Given the description of an element on the screen output the (x, y) to click on. 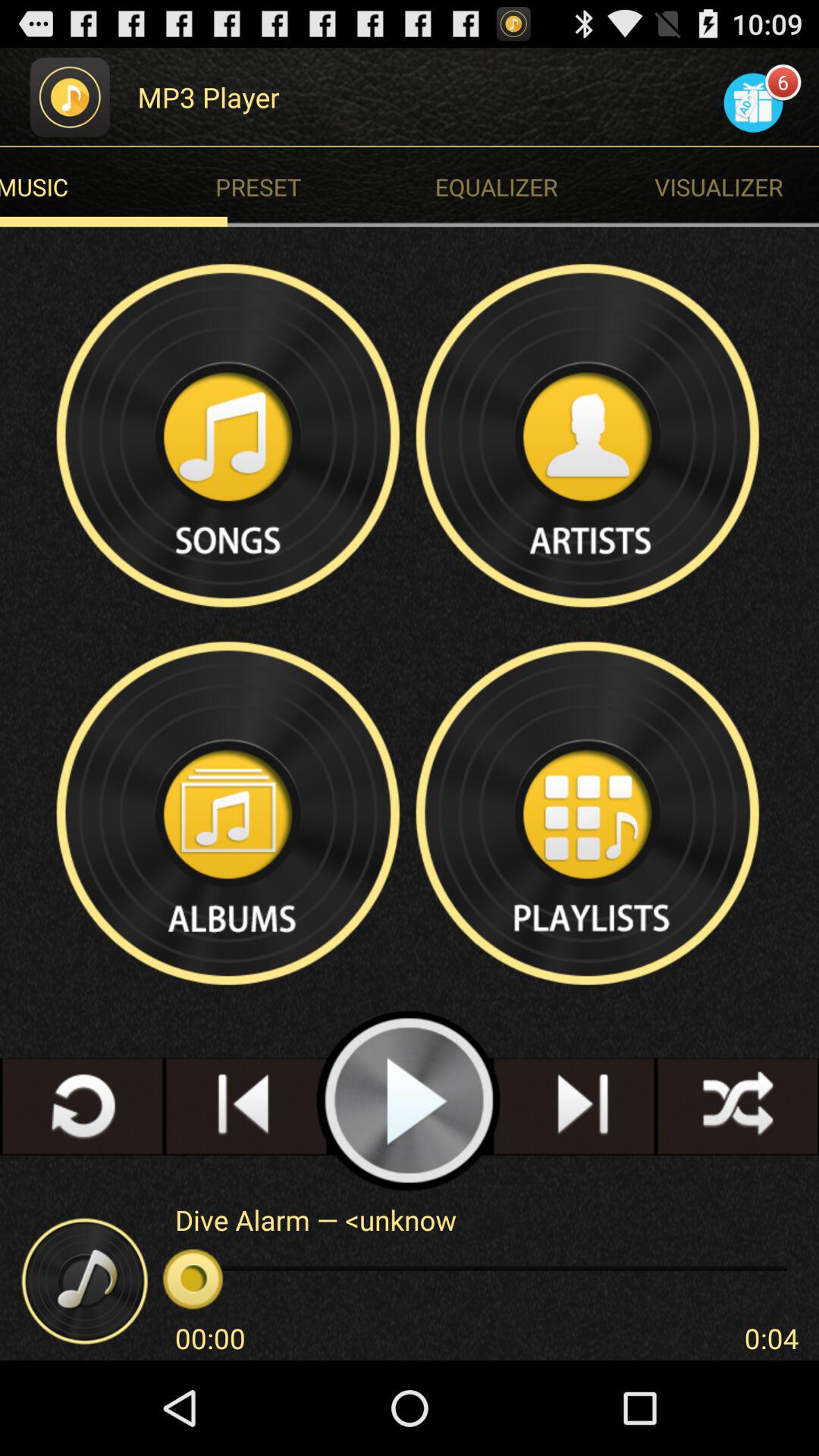
select artists list (588, 435)
